Given the description of an element on the screen output the (x, y) to click on. 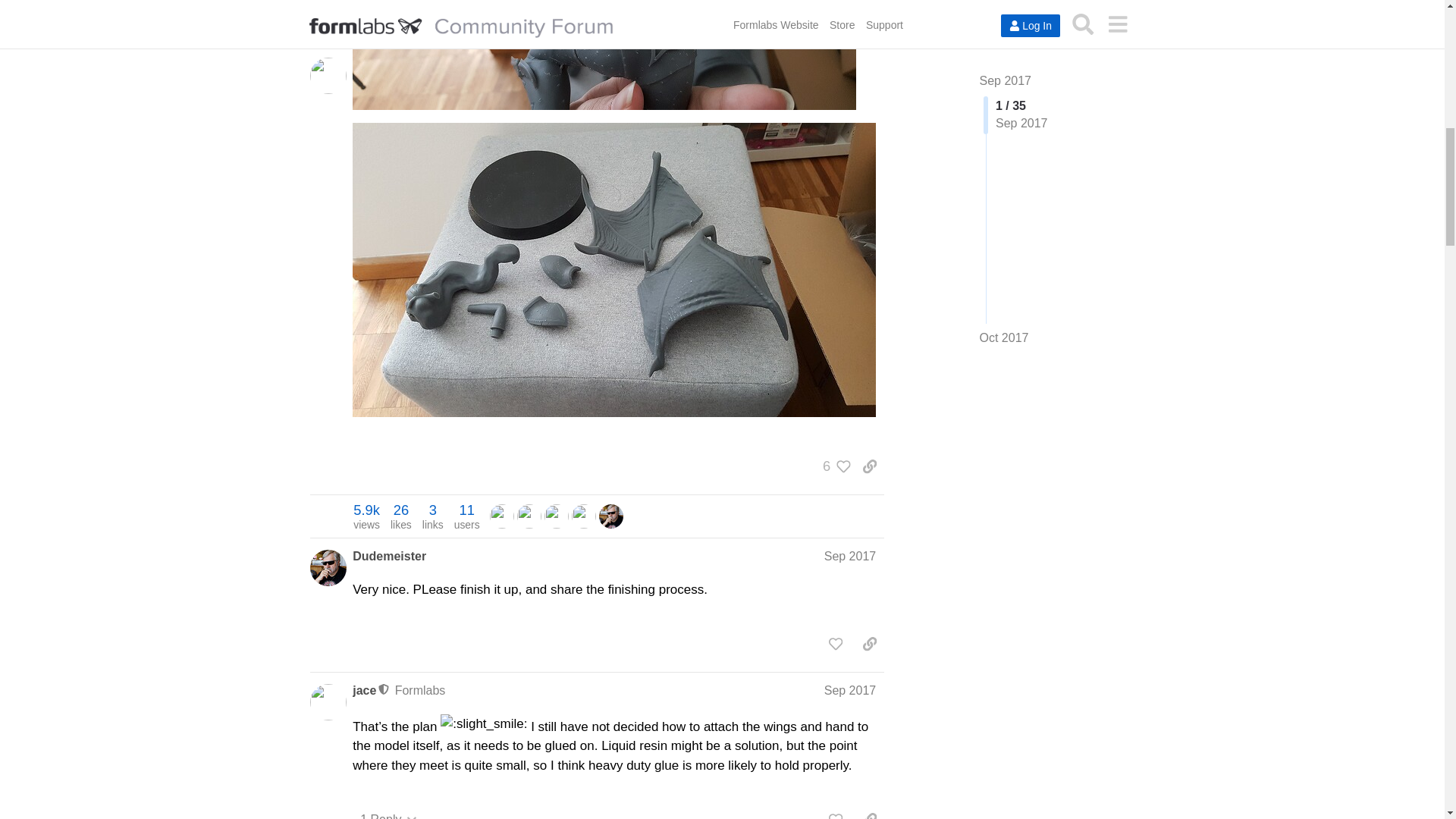
jace (363, 690)
Gholson2 (528, 516)
Formlabs (419, 689)
jace (501, 514)
copy a link to this post to clipboard (366, 516)
Dudemeister (869, 466)
6 (389, 556)
Sep 2017 (832, 466)
Sep 2017 (850, 555)
